Given the description of an element on the screen output the (x, y) to click on. 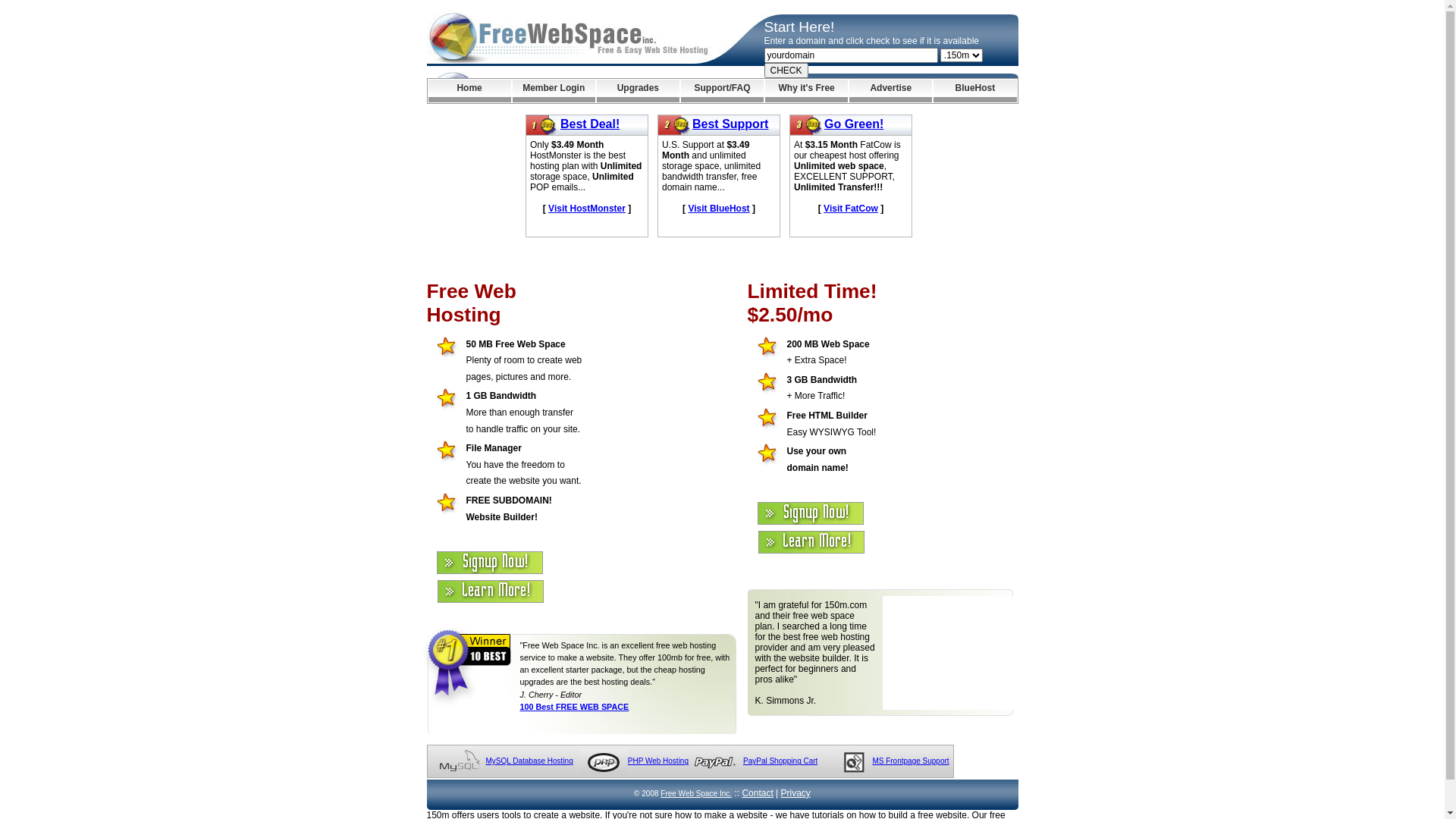
Why it's Free Element type: text (806, 90)
Support/FAQ Element type: text (721, 90)
PHP Web Hosting Element type: text (657, 760)
Contact Element type: text (756, 792)
MS Frontpage Support Element type: text (910, 760)
Member Login Element type: text (553, 90)
Privacy Element type: text (795, 792)
100 Best FREE WEB SPACE Element type: text (574, 706)
BlueHost Element type: text (974, 90)
CHECK Element type: text (786, 70)
PayPal Shopping Cart Element type: text (780, 760)
Home Element type: text (468, 90)
Upgrades Element type: text (637, 90)
Free Web Space Inc. Element type: text (695, 793)
MySQL Database Hosting Element type: text (528, 760)
Advertise Element type: text (890, 90)
